Given the description of an element on the screen output the (x, y) to click on. 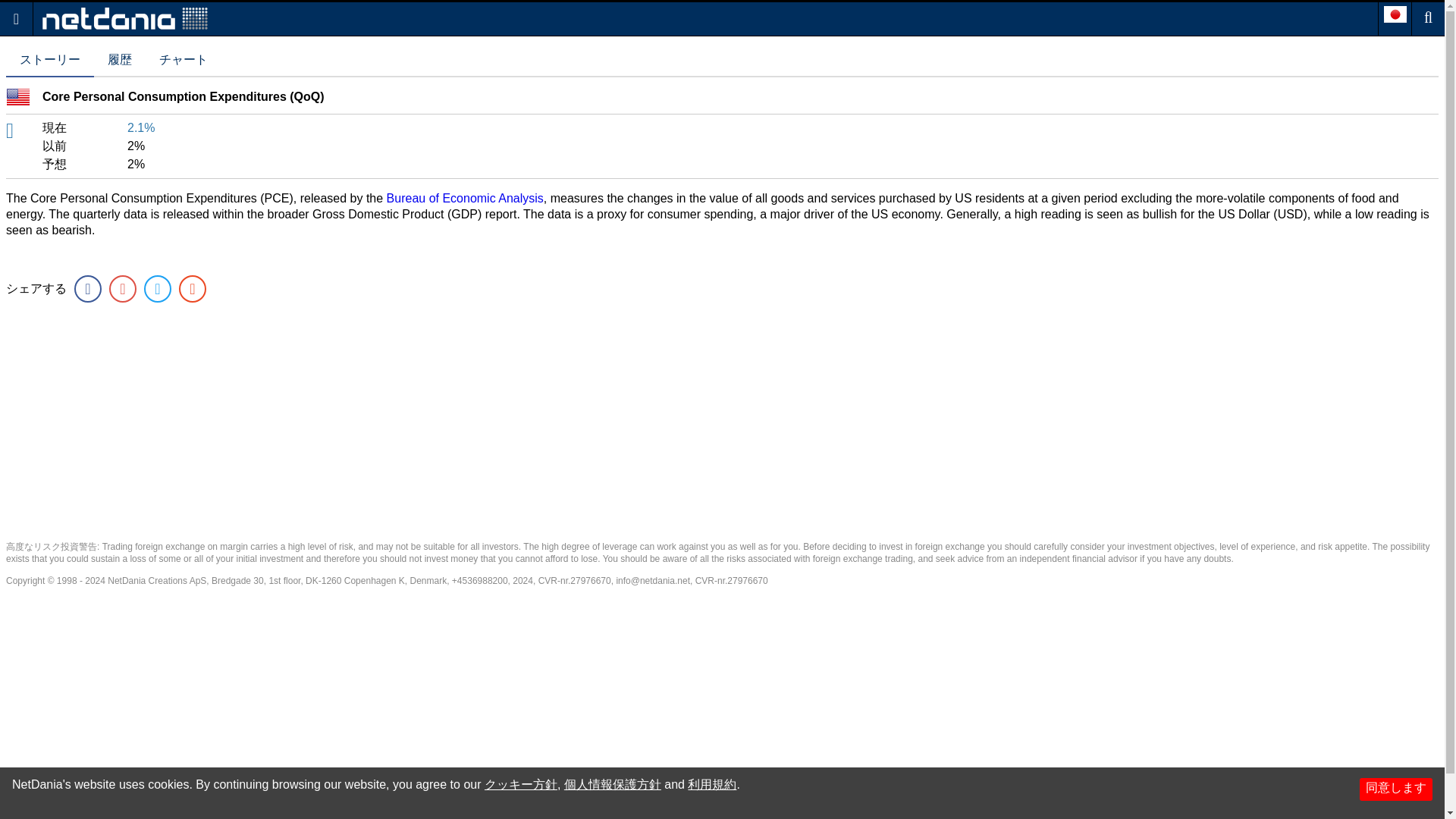
Bureau of Economic Analysis (465, 197)
